Given the description of an element on the screen output the (x, y) to click on. 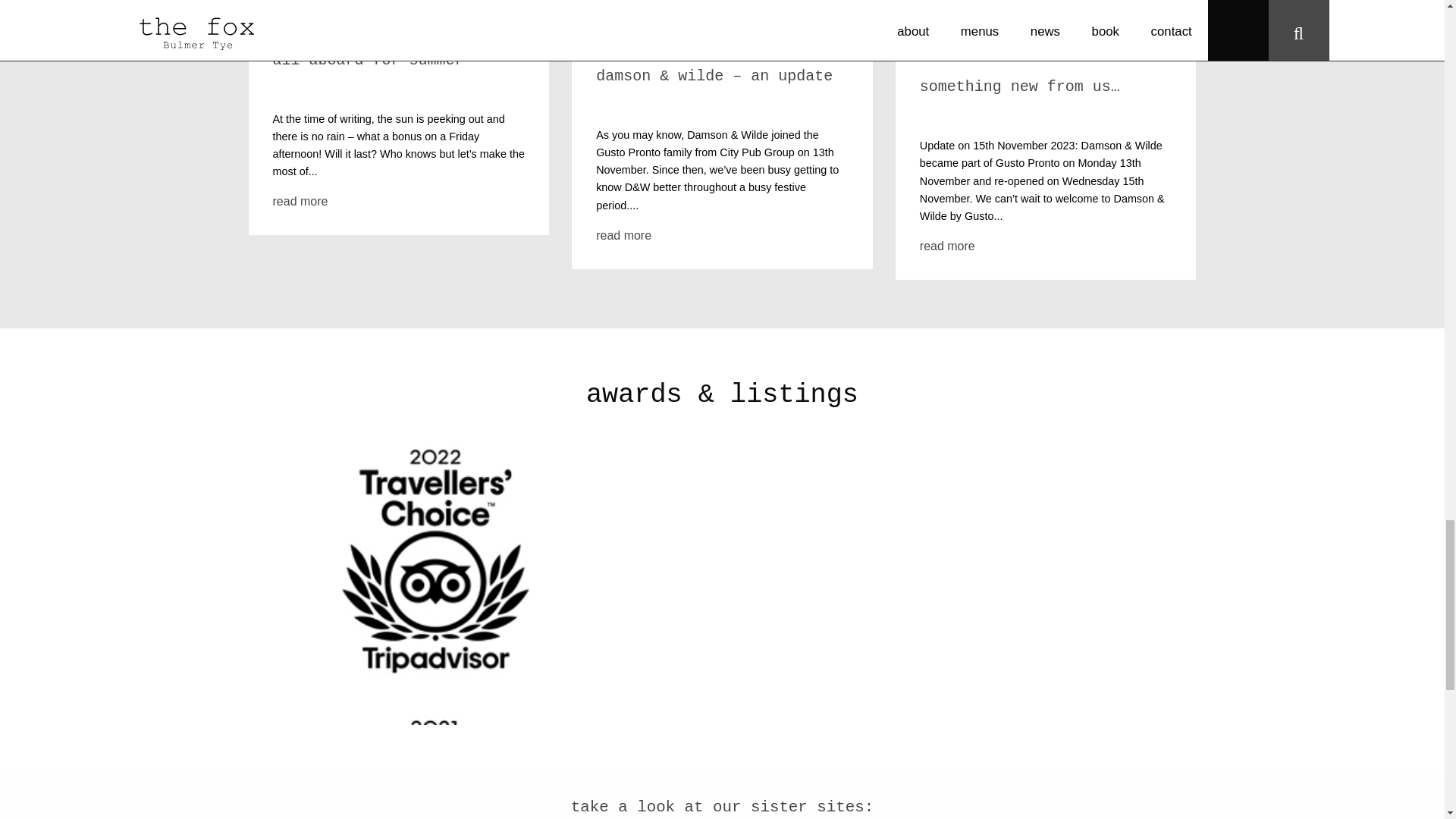
All aboard for summer (368, 59)
All aboard for summer (301, 201)
